Given the description of an element on the screen output the (x, y) to click on. 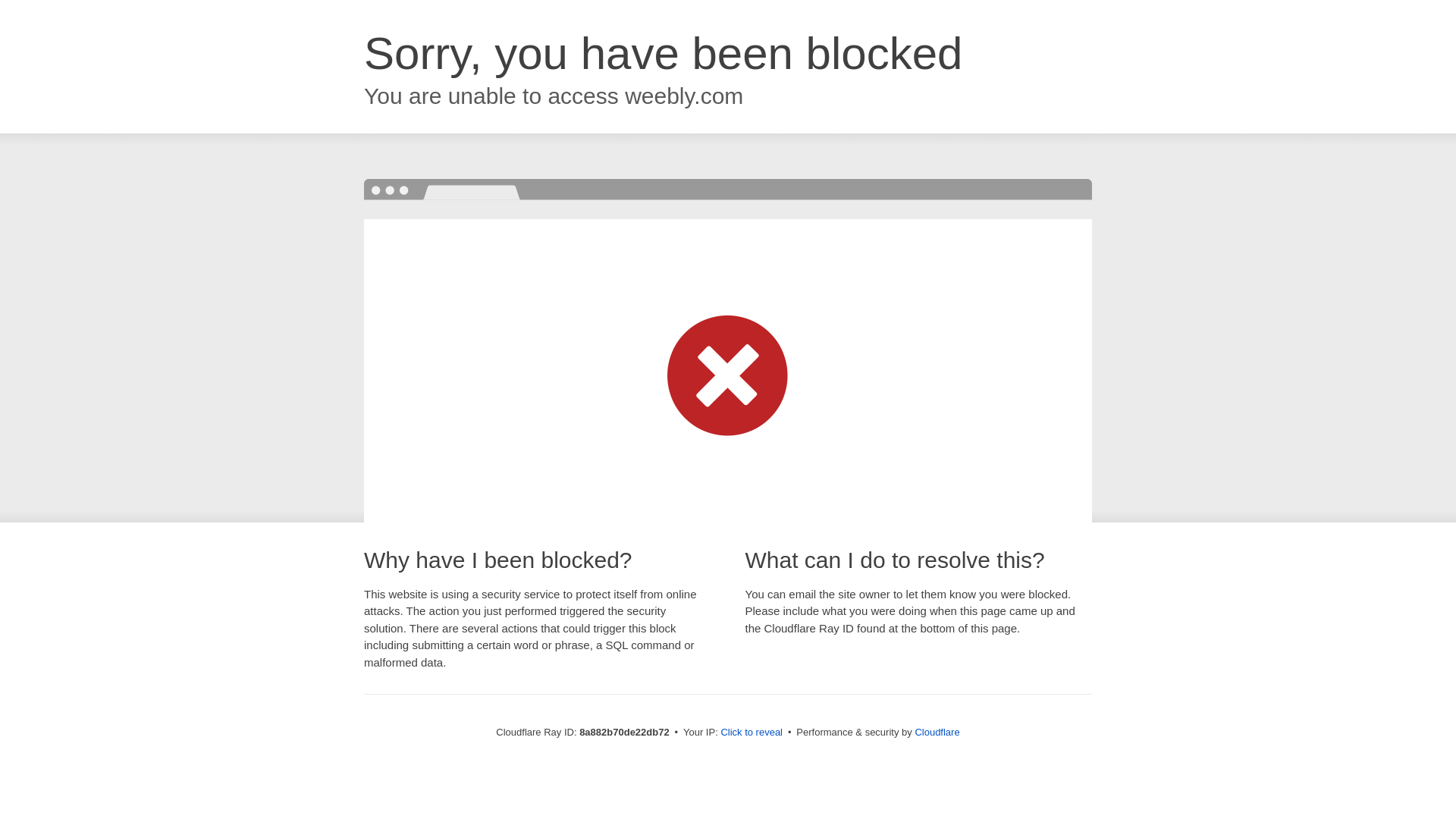
Cloudflare (936, 731)
Click to reveal (751, 732)
